Given the description of an element on the screen output the (x, y) to click on. 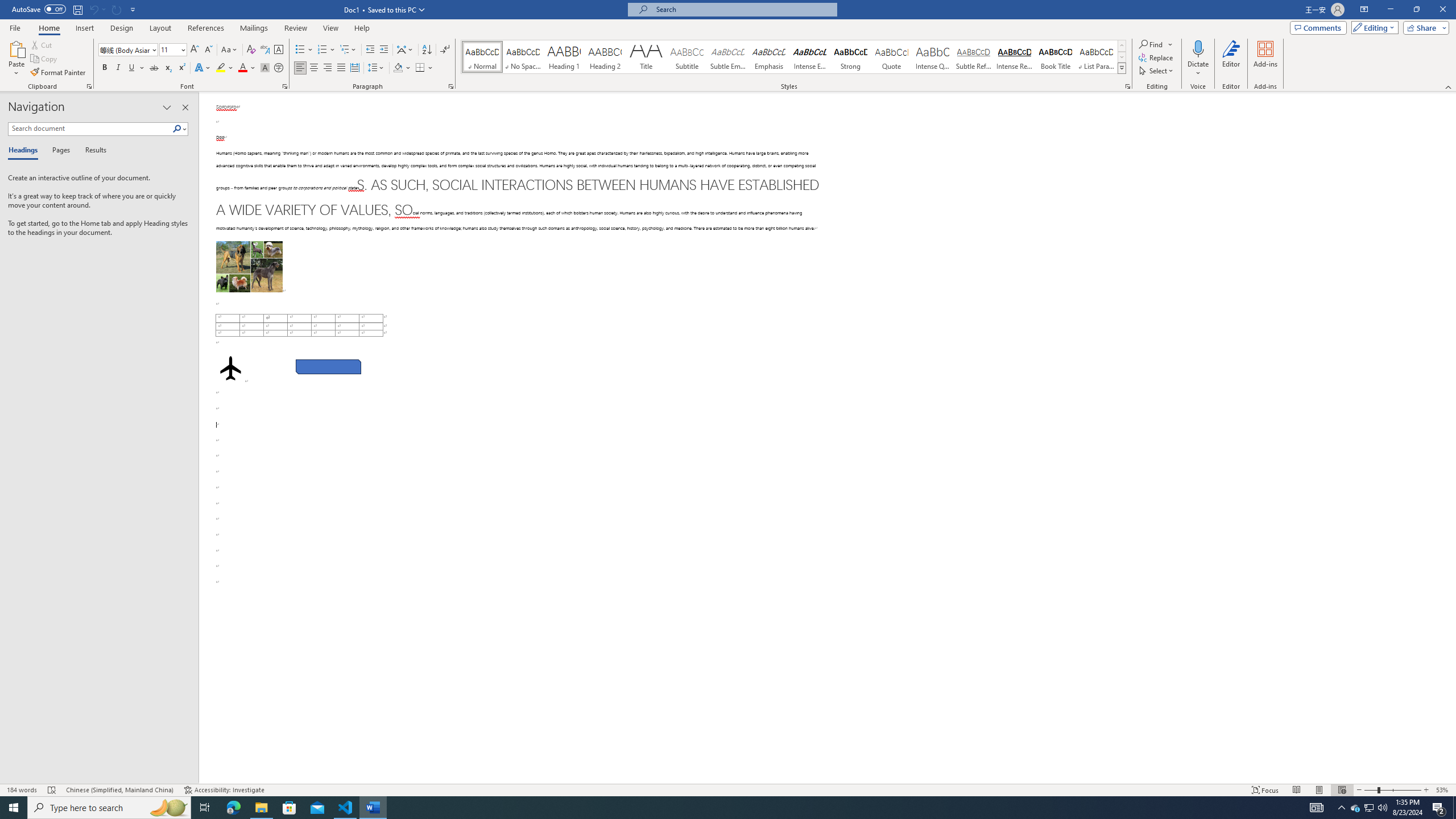
Strong (849, 56)
Book Title (1055, 56)
